Given the description of an element on the screen output the (x, y) to click on. 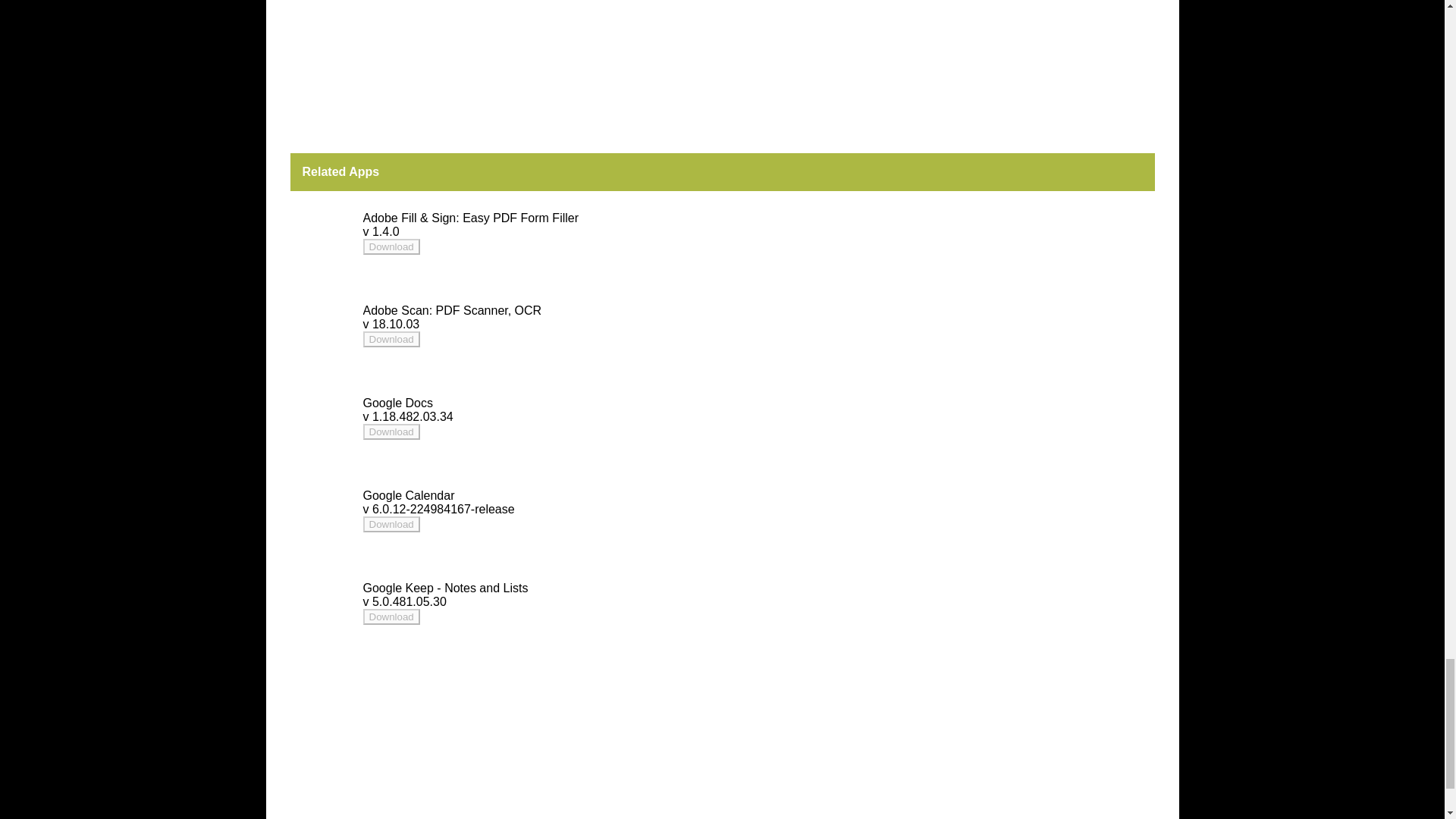
Download (390, 522)
Adobe Scan: PDF Scanner, OCR for PC (451, 309)
Download (390, 431)
Adobe Acrobat Reader for PC (390, 338)
Google Keep - Notes and Lists (444, 587)
Download (390, 339)
Google Docs for PC (397, 402)
Google Keep - Notes and Lists for PC (444, 587)
Adobe Acrobat Reader for PC (390, 431)
Download (390, 616)
